Given the description of an element on the screen output the (x, y) to click on. 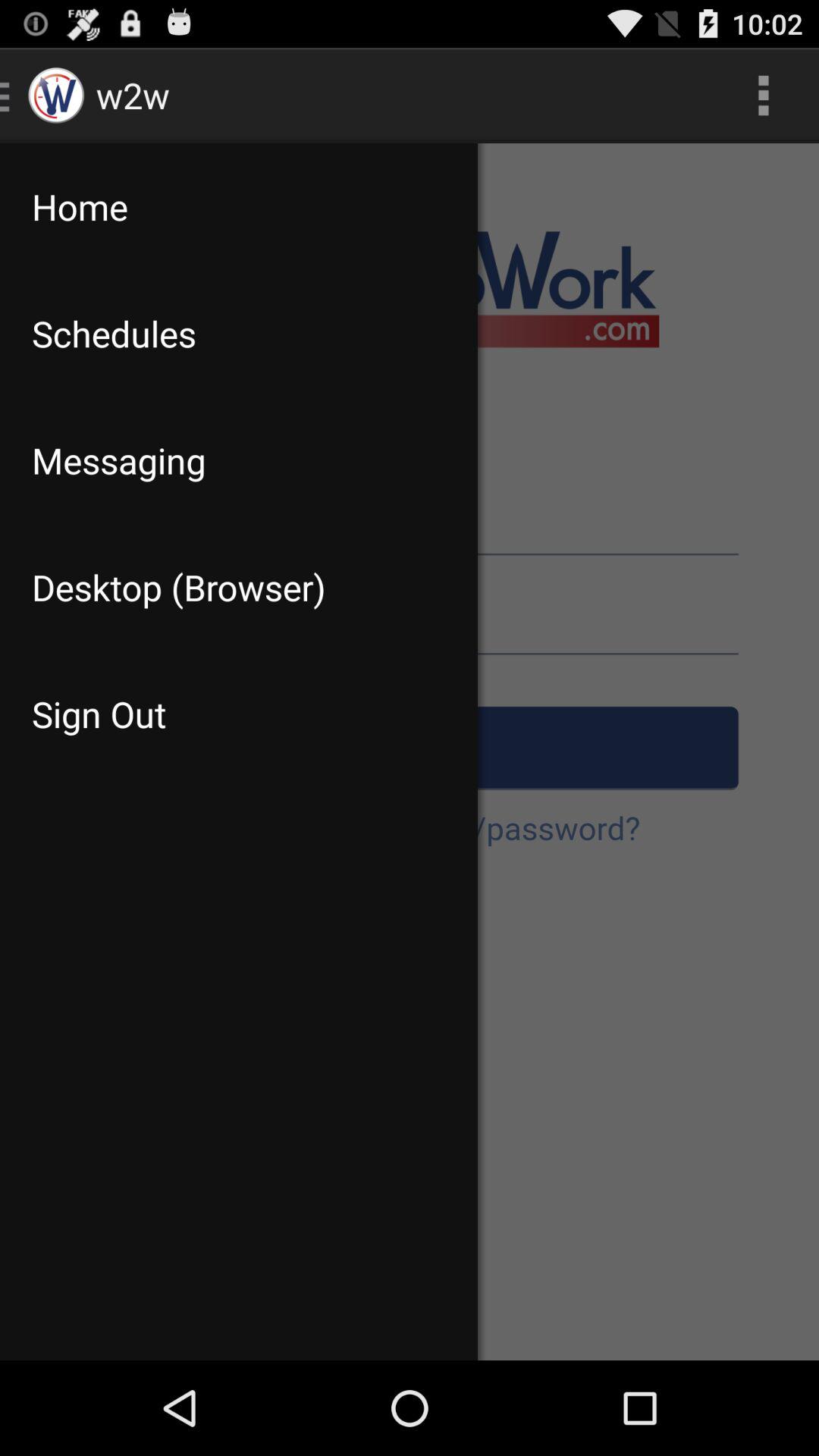
tap the messaging icon (238, 460)
